Given the description of an element on the screen output the (x, y) to click on. 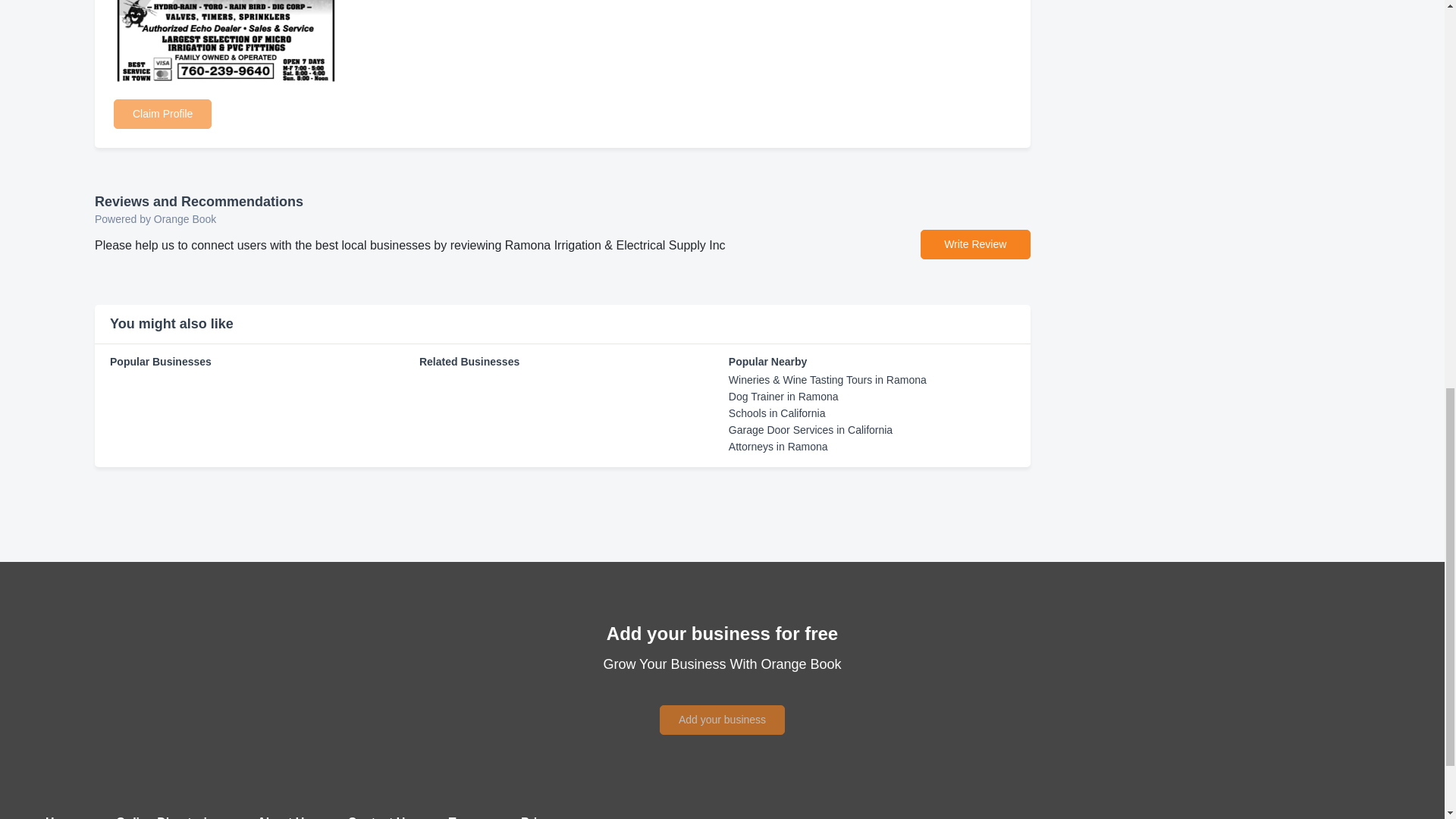
Claim Profile (162, 112)
Attorneys in Ramona (778, 446)
Garage Door Services in California (810, 429)
Dog Trainer in Ramona (783, 396)
Schools in California (777, 413)
